Given the description of an element on the screen output the (x, y) to click on. 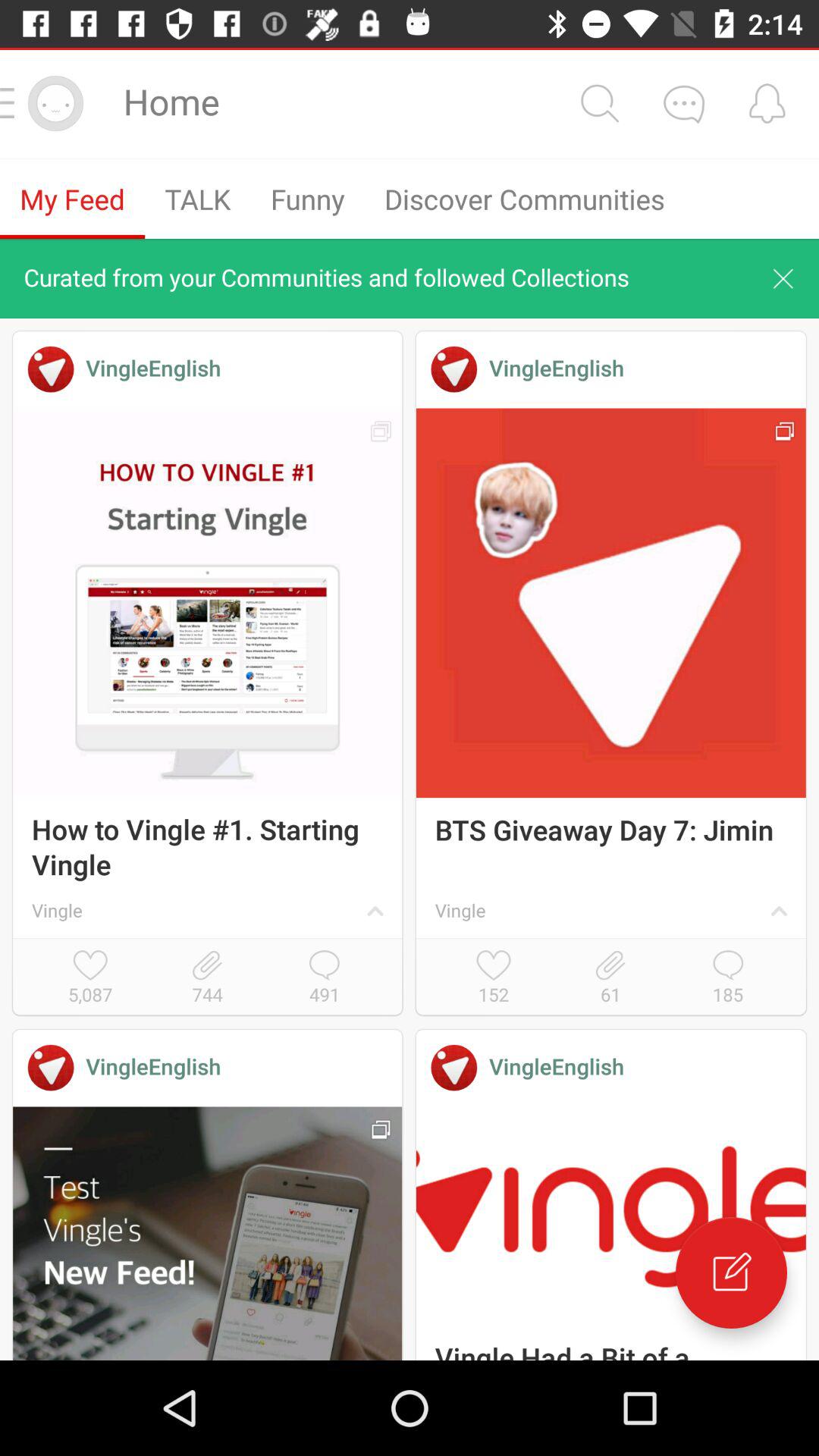
turn off the item to the right of the home icon (599, 103)
